Given the description of an element on the screen output the (x, y) to click on. 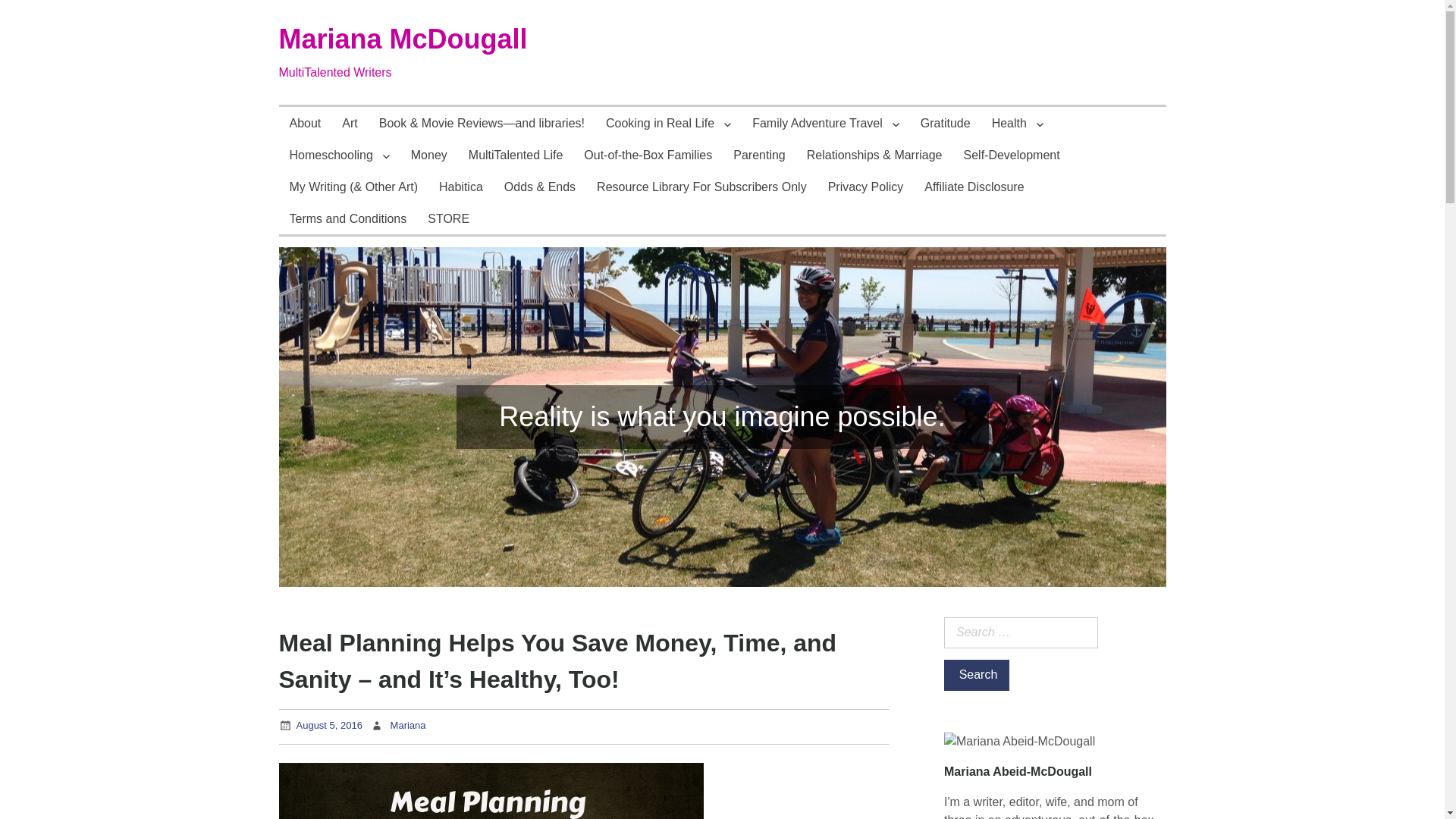
Homeschooling (339, 154)
Terms and Conditions (348, 218)
Mariana McDougall (403, 38)
MultiTalented Life (515, 154)
Health (1017, 122)
Search (976, 675)
Affiliate Disclosure (973, 186)
Self-Development (1011, 154)
Privacy Policy (865, 186)
Art (349, 122)
